Given the description of an element on the screen output the (x, y) to click on. 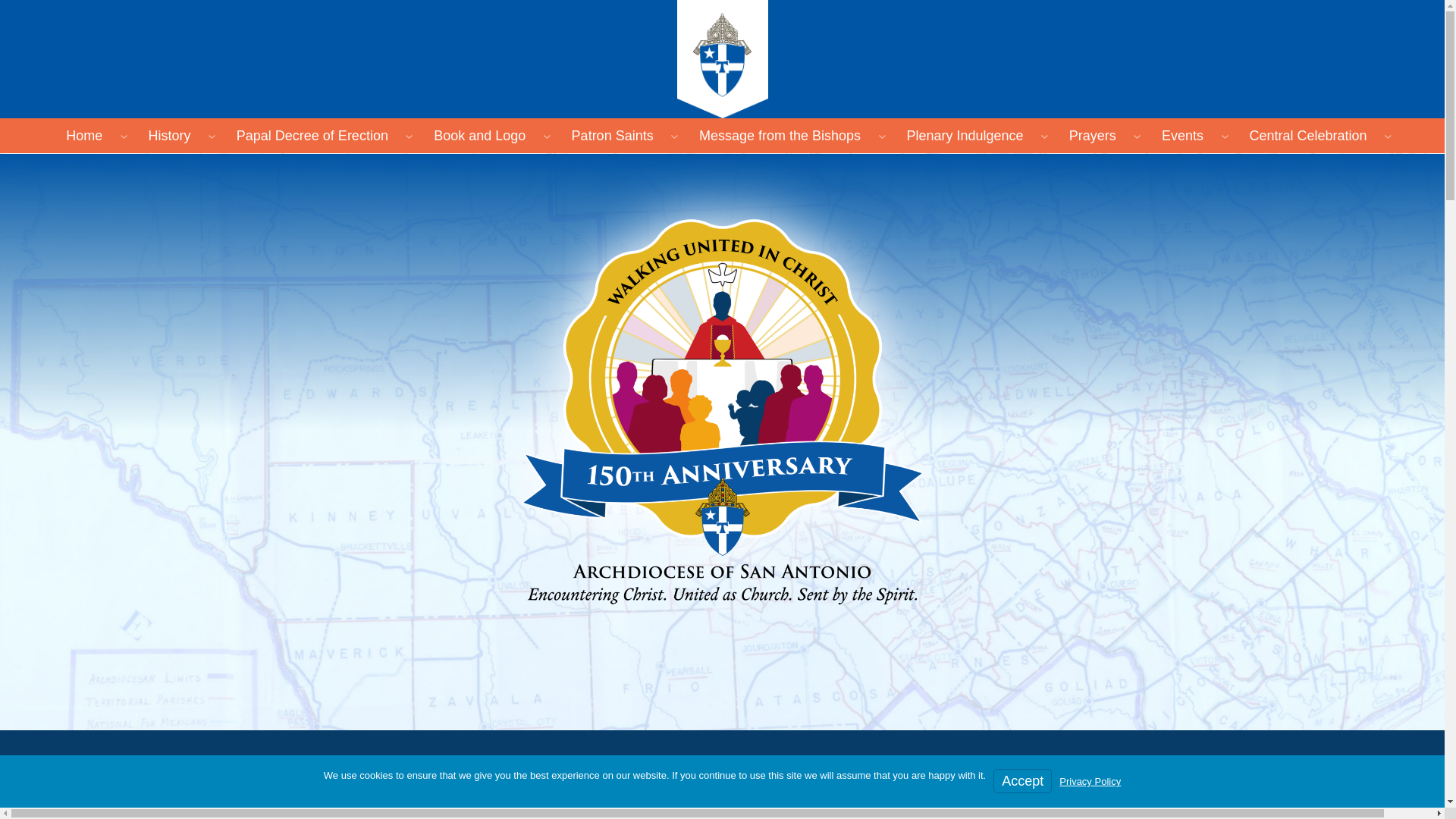
Patron Saints (611, 135)
Events (1182, 135)
Prayers (1092, 135)
History (168, 135)
Home (84, 135)
Papal Decree of Erection (311, 135)
Book and Logo (479, 135)
Message from the Bishops (780, 135)
Central Celebration (1307, 135)
Plenary Indulgence (964, 135)
